Given the description of an element on the screen output the (x, y) to click on. 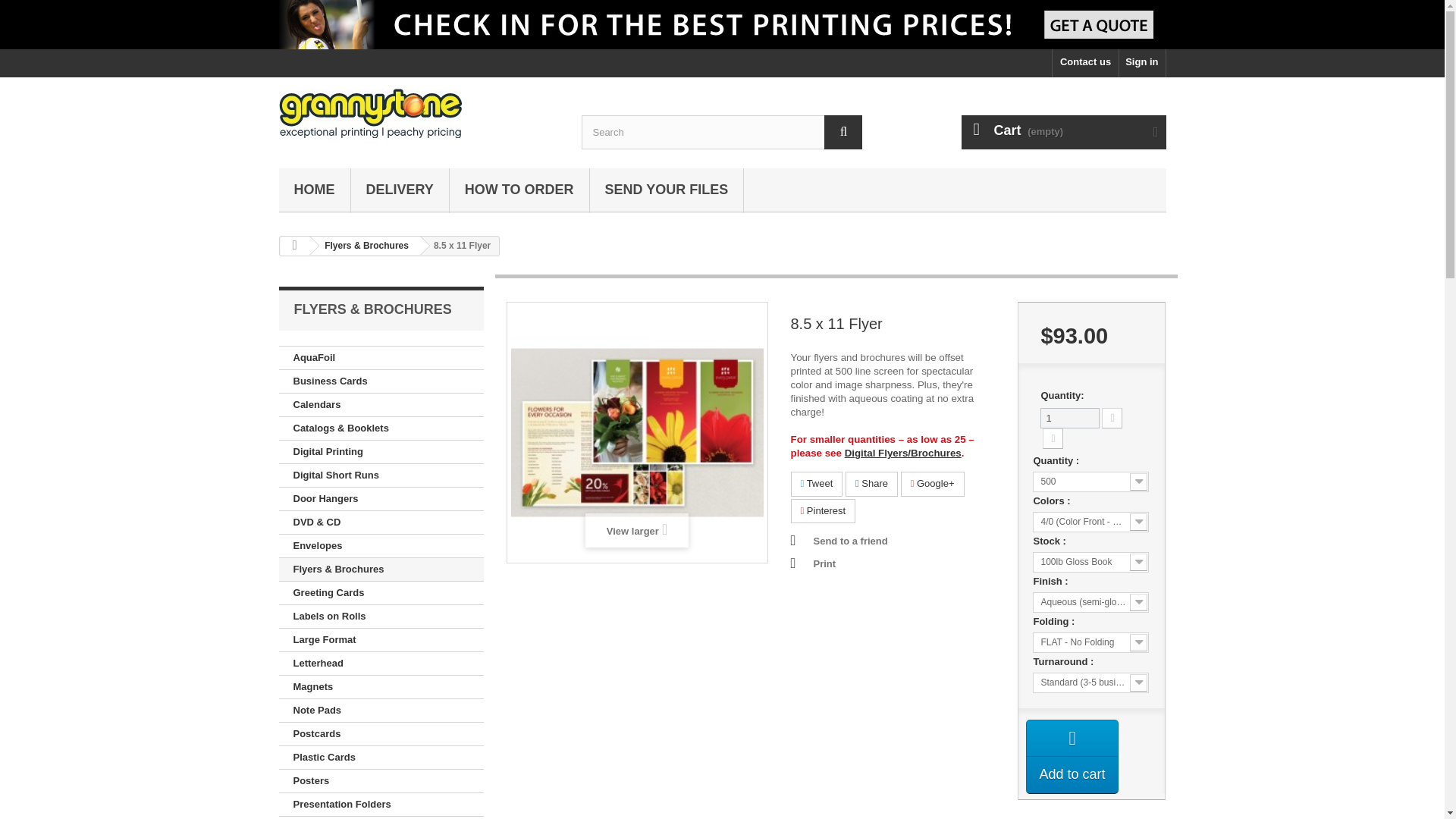
AquaFoil (381, 358)
Lowest price guaranteed (722, 24)
Contact Us (1085, 62)
Contact us (1085, 62)
Login to your customer account (1141, 62)
View my shopping cart (1063, 132)
SEND YOUR FILES (666, 190)
1 (1070, 417)
Sign in (1141, 62)
DELIVERY (399, 190)
HOME (314, 190)
GRANNYSTONE (419, 113)
Business Cards (381, 381)
HOW TO ORDER (519, 190)
Home (314, 190)
